Given the description of an element on the screen output the (x, y) to click on. 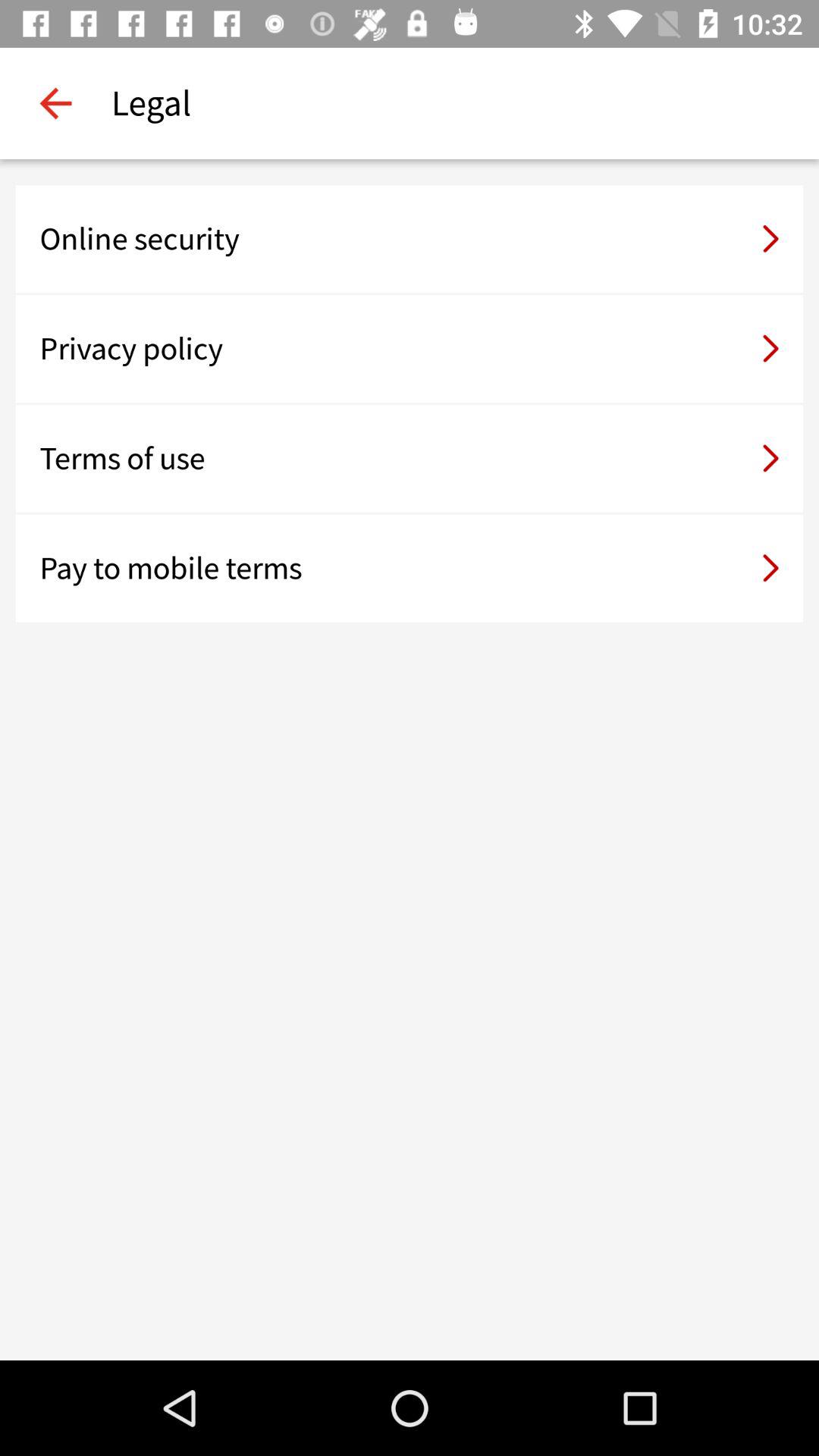
select item above the terms of use item (409, 348)
